Given the description of an element on the screen output the (x, y) to click on. 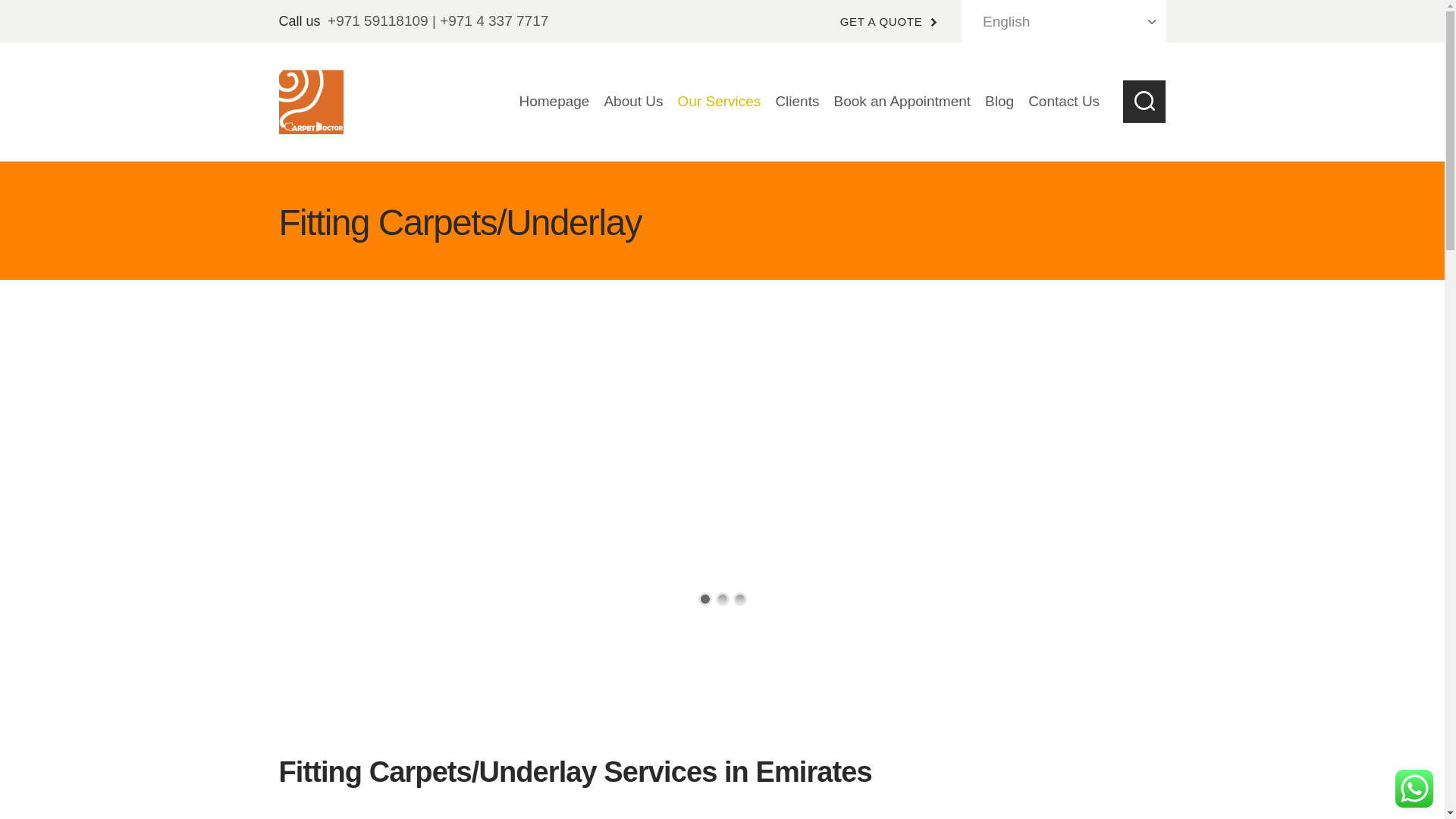
About Us (632, 102)
Book an Appointment (902, 102)
Homepage (554, 102)
Clients (797, 102)
Blog (1000, 102)
Our Services (718, 102)
Contact Us (1064, 102)
GET A QUOTE (889, 21)
